Given the description of an element on the screen output the (x, y) to click on. 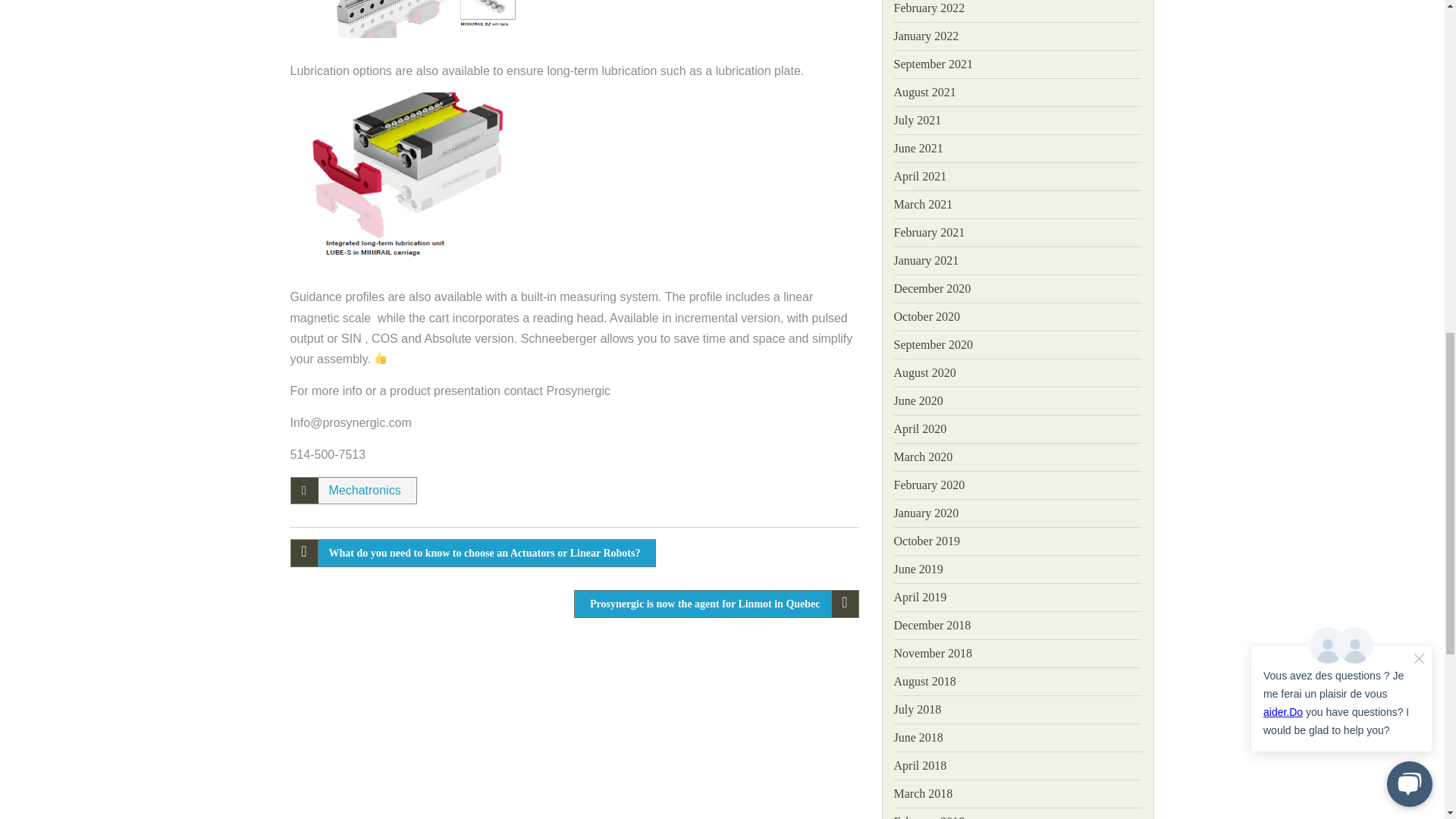
Prosynergic is now the agent for Linmot in Quebec (716, 603)
Mechatronics (365, 490)
